Given the description of an element on the screen output the (x, y) to click on. 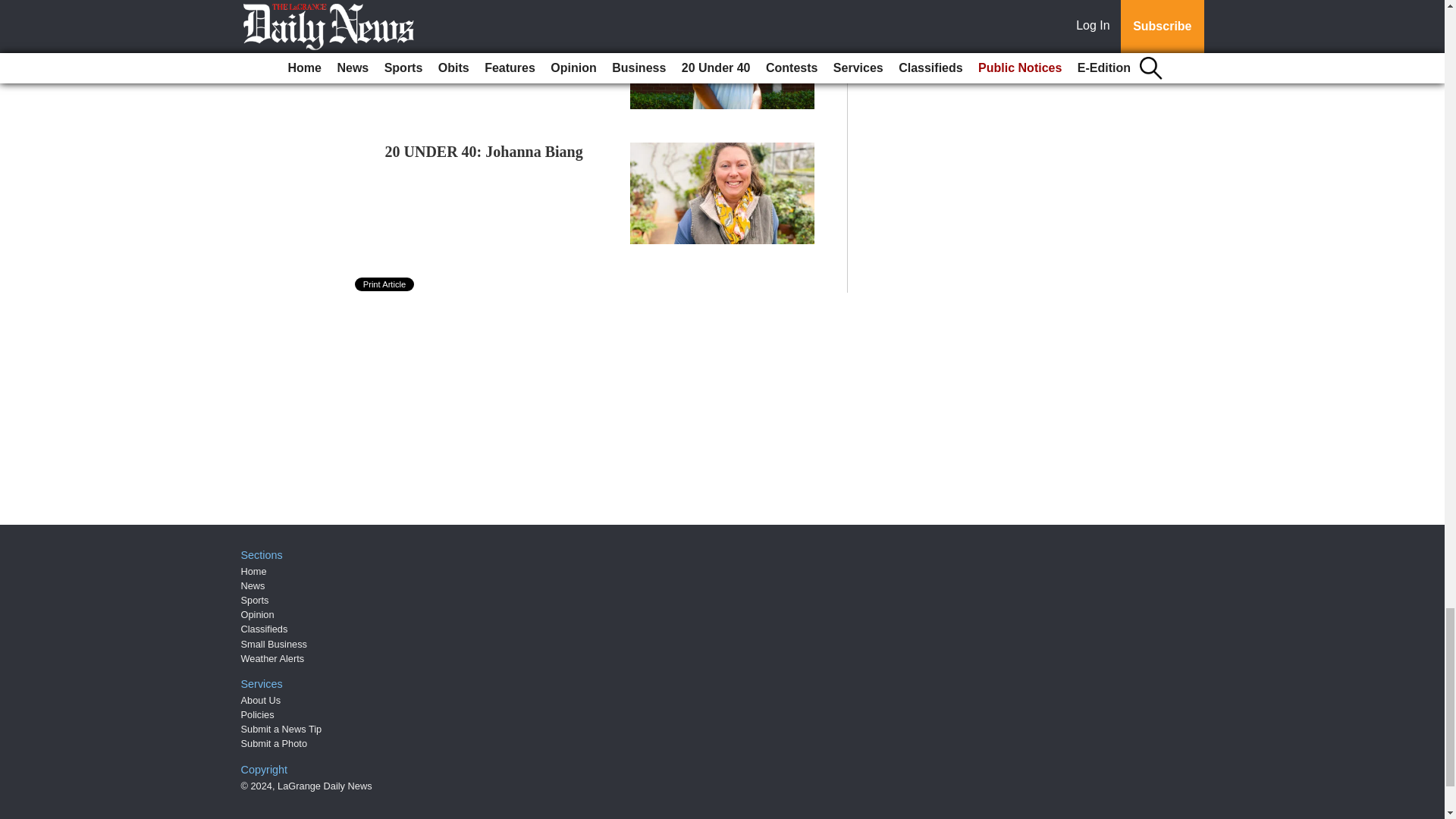
20 UNDER 40: Quinshada Simpson (500, 17)
20 UNDER 40: Quinshada Simpson (500, 17)
20 UNDER 40: Johanna Biang (484, 151)
20 UNDER 40: Johanna Biang (484, 151)
Print Article (384, 284)
